Given the description of an element on the screen output the (x, y) to click on. 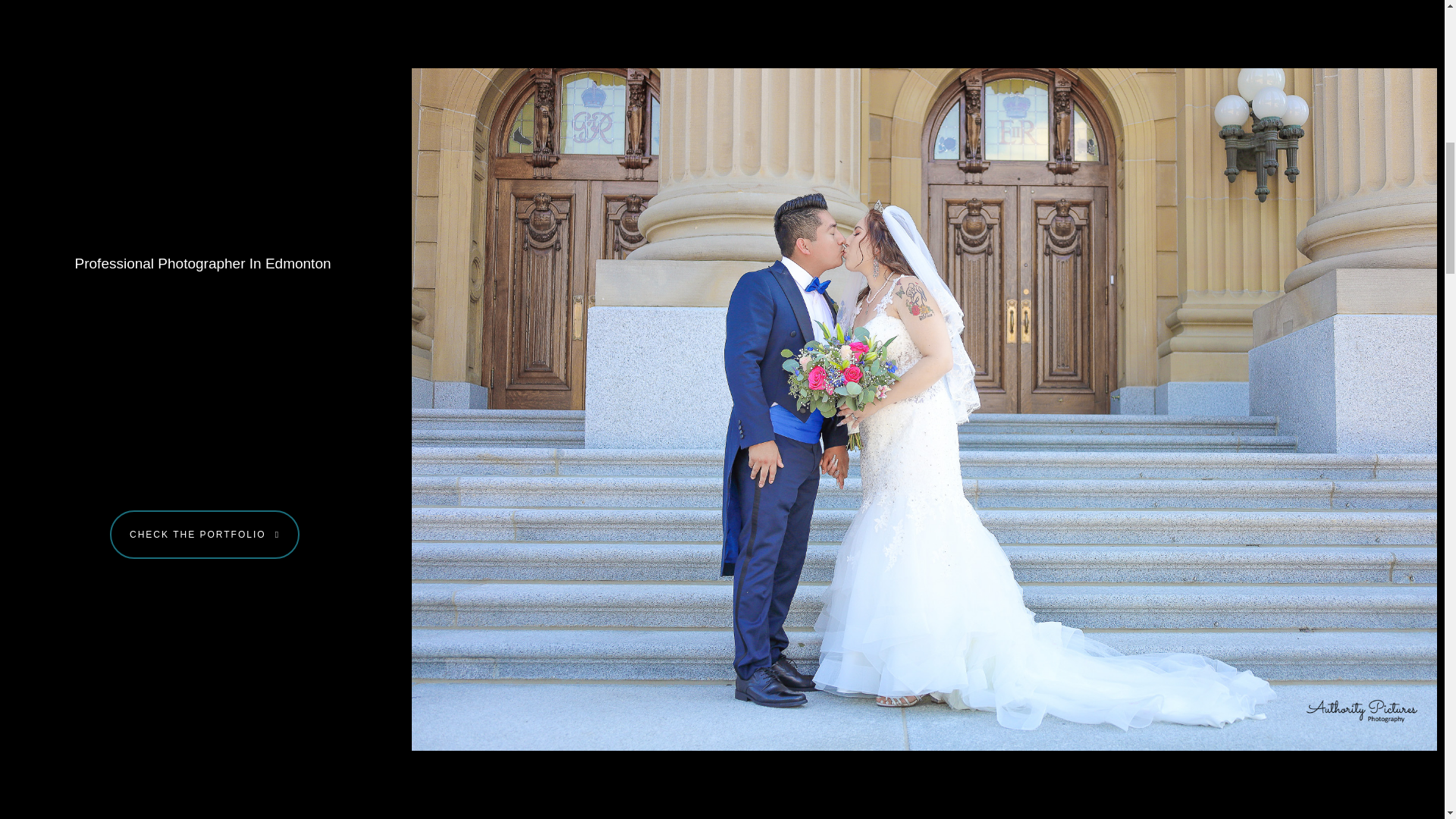
CHECK THE PORTFOLIO (204, 534)
